Given the description of an element on the screen output the (x, y) to click on. 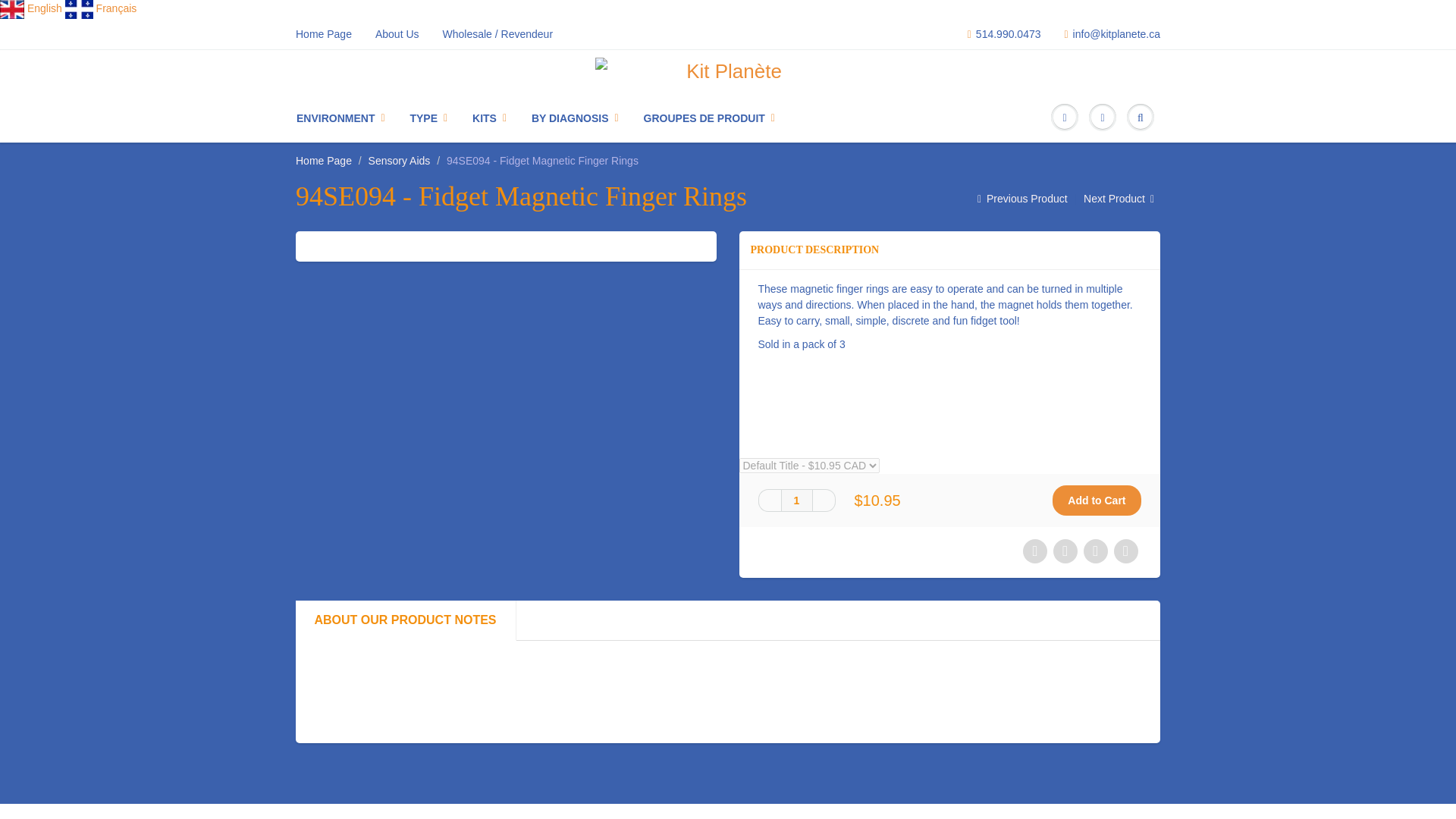
English (44, 8)
Home Page (317, 33)
KITS (490, 118)
About Us (391, 33)
Add to Cart (1096, 500)
TYPE (429, 118)
ENVIRONMENT (347, 118)
514.990.0473 (997, 33)
Home Page (323, 160)
1 (796, 499)
